Given the description of an element on the screen output the (x, y) to click on. 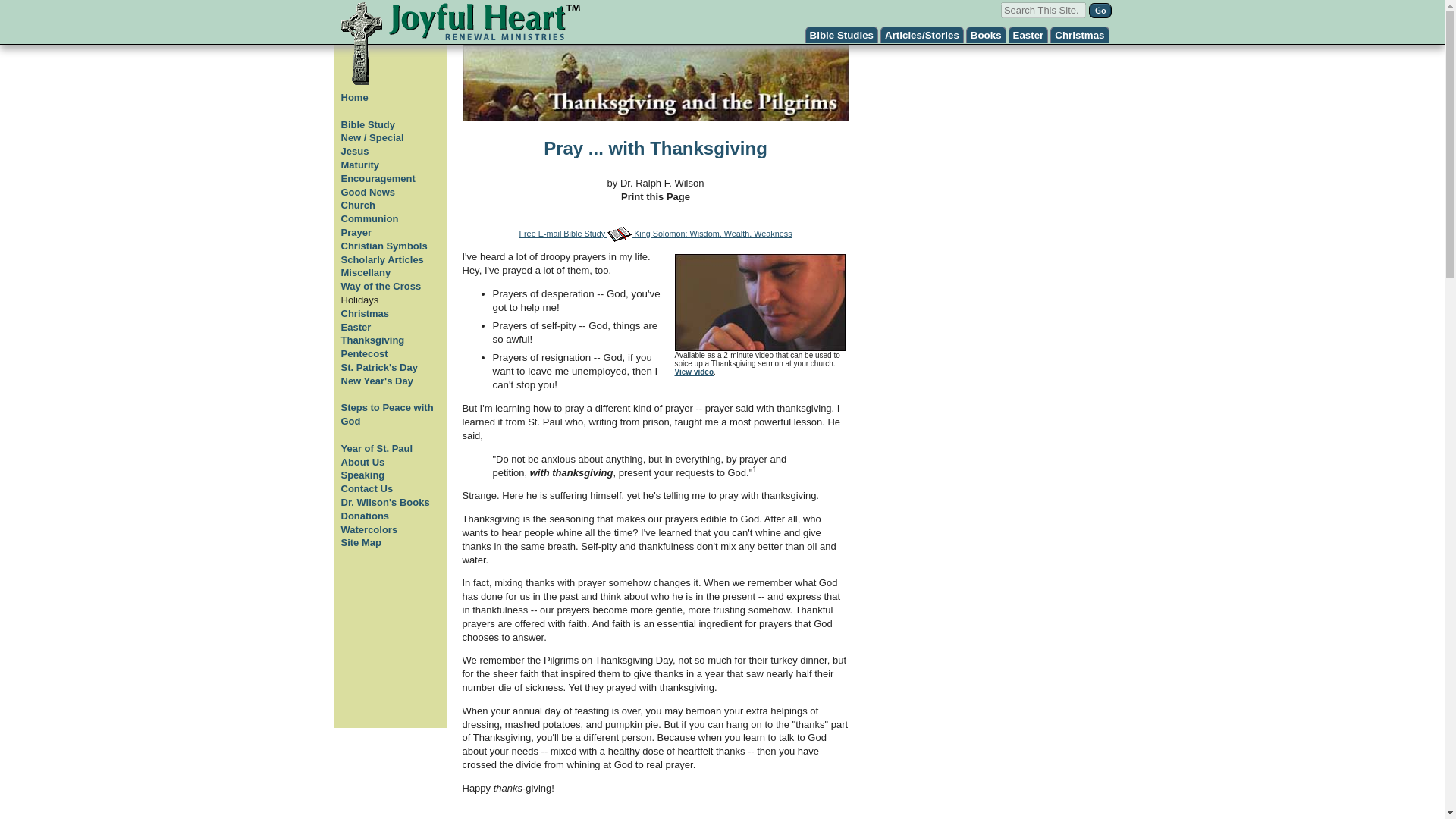
Christian Articles and Stories about Jesus (354, 151)
Return to Home Page (459, 43)
Communion (369, 218)
Books (986, 34)
Church (357, 204)
Bible Studies (841, 34)
Home (354, 97)
Christian Articles and Stories about Christian Encouragement (377, 178)
Jesus (354, 151)
Encouragement (377, 178)
Evangelistic Christian Articles and Stories (368, 192)
Christmas (1078, 34)
Easter (1028, 34)
Christian Articles and Stories about Christian Maturity (360, 164)
Good News (368, 192)
